Given the description of an element on the screen output the (x, y) to click on. 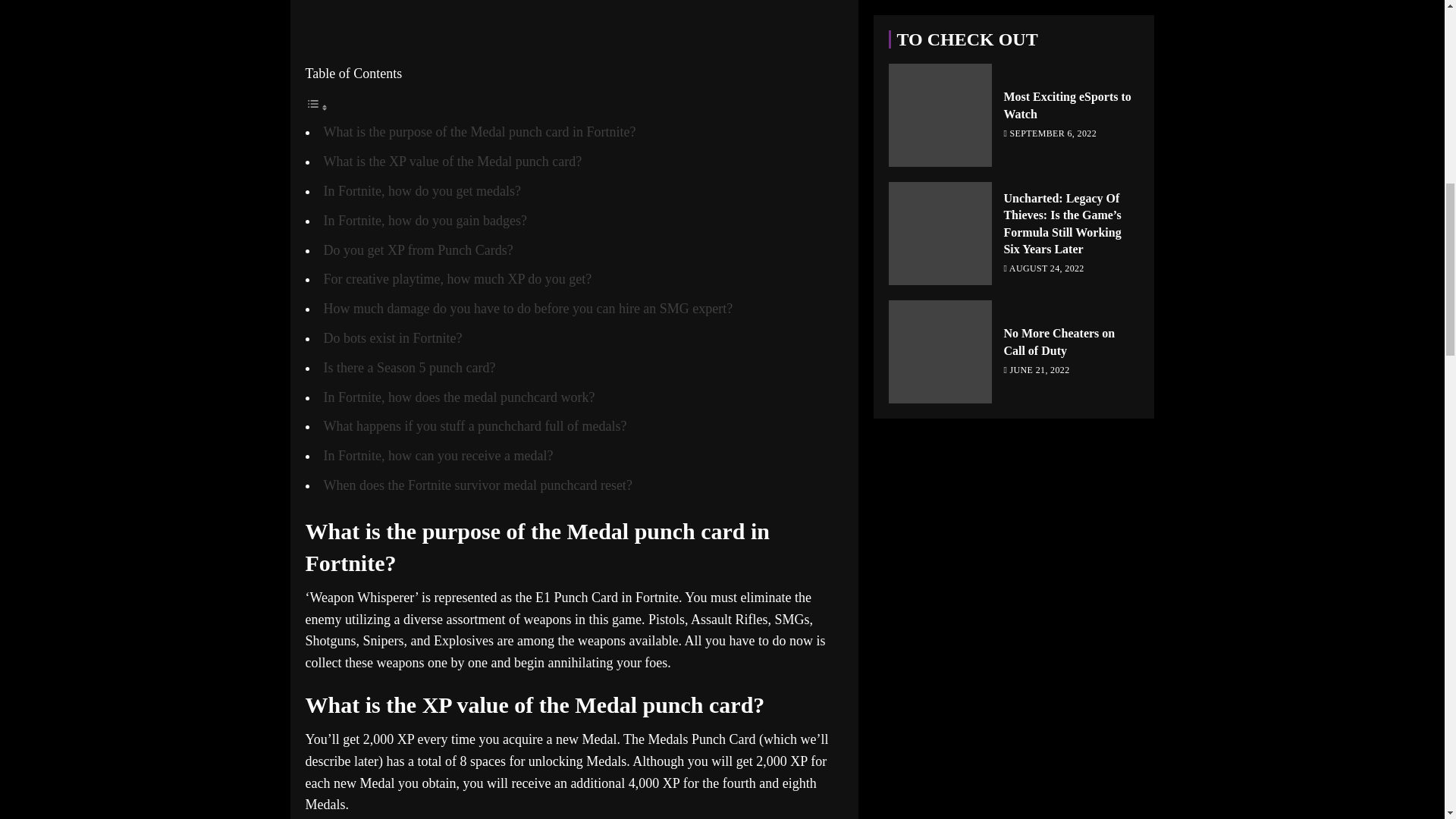
In Fortnite, how can you receive a medal? (438, 455)
What happens if you stuff a punchchard full of medals? (474, 426)
Is there a Season 5 punch card? (409, 367)
When does the Fortnite survivor medal punchcard reset? (477, 485)
For creative playtime, how much XP do you get? (457, 278)
Do bots exist in Fortnite? (392, 337)
Do you get XP from Punch Cards? (417, 249)
In Fortnite, how can you receive a medal? (438, 455)
In Fortnite, how do you gain badges? (424, 220)
Do you get XP from Punch Cards? (417, 249)
What is the XP value of the Medal punch card? (451, 160)
What is the purpose of the Medal punch card in Fortnite? (478, 131)
In Fortnite, how do you gain badges? (424, 220)
In Fortnite, how does the medal punchcard work? (458, 396)
